Given the description of an element on the screen output the (x, y) to click on. 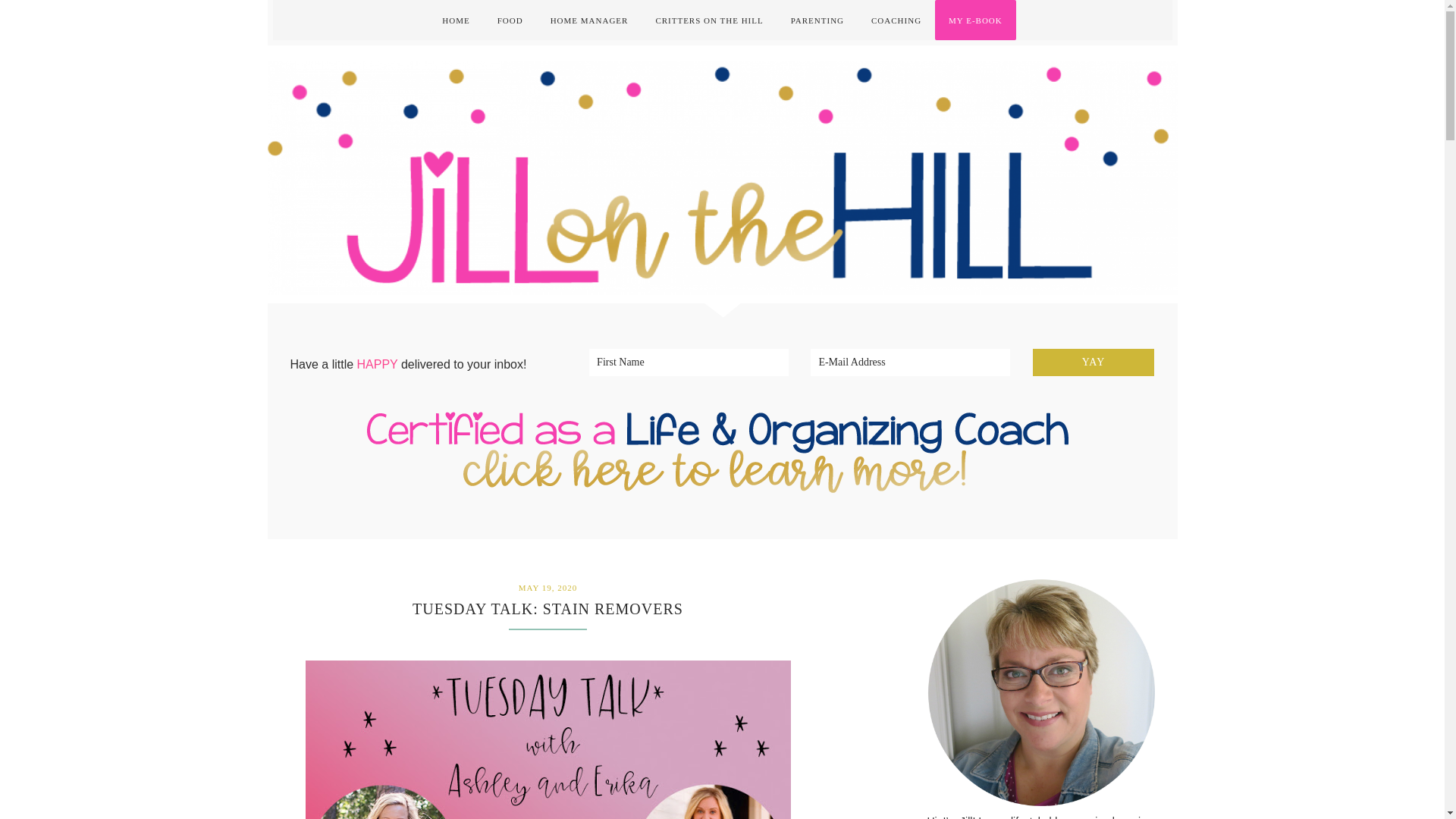
CRITTERS ON THE HILL (709, 20)
COACHING (895, 20)
YAY (1093, 361)
HOME MANAGER (589, 20)
PARENTING (817, 20)
YAY (1093, 361)
MY E-BOOK (975, 20)
FOOD (510, 20)
HOME (455, 20)
